Given the description of an element on the screen output the (x, y) to click on. 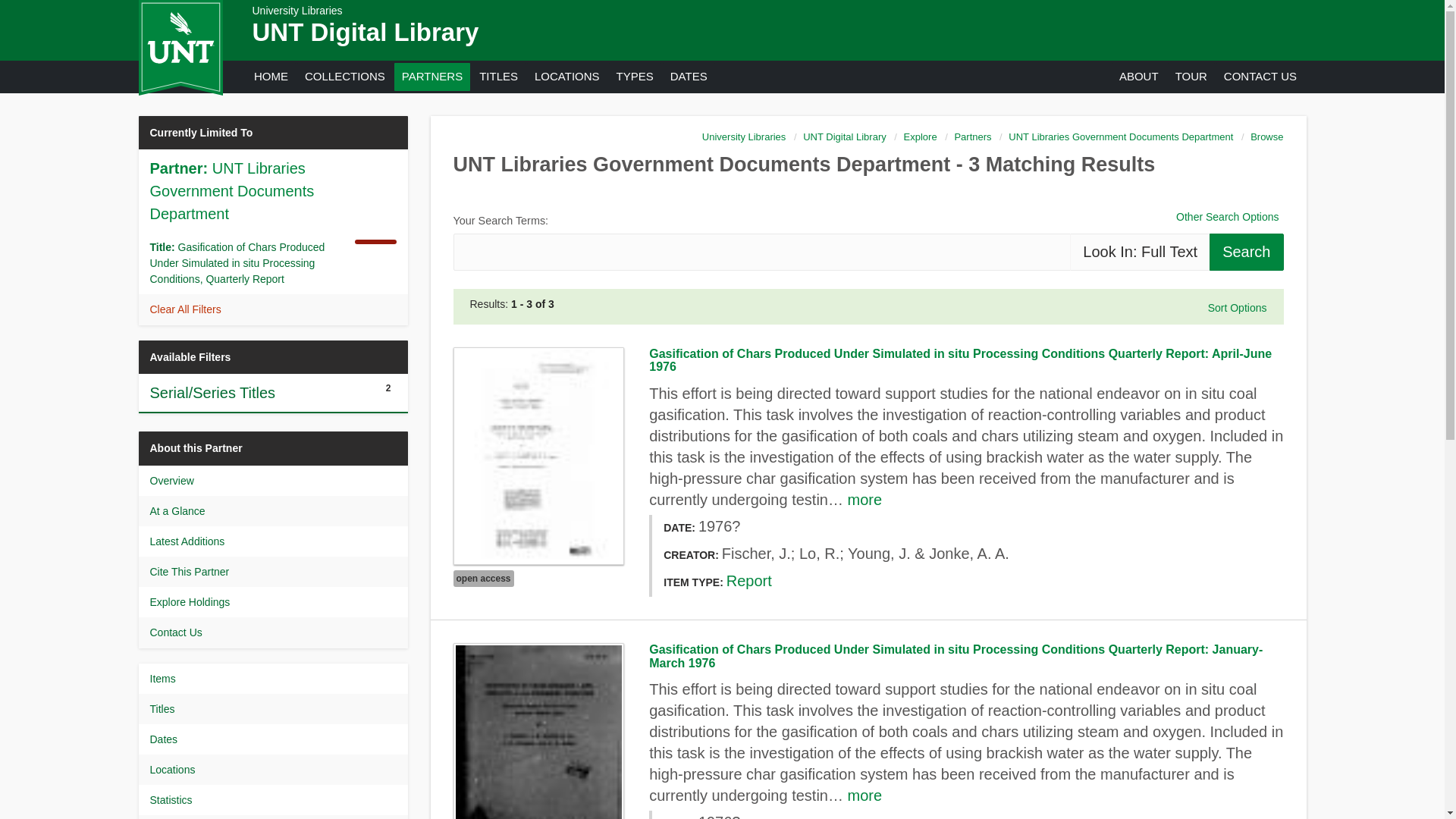
HOME (270, 76)
University Libraries (296, 10)
UNT Digital Library (365, 31)
